Given the description of an element on the screen output the (x, y) to click on. 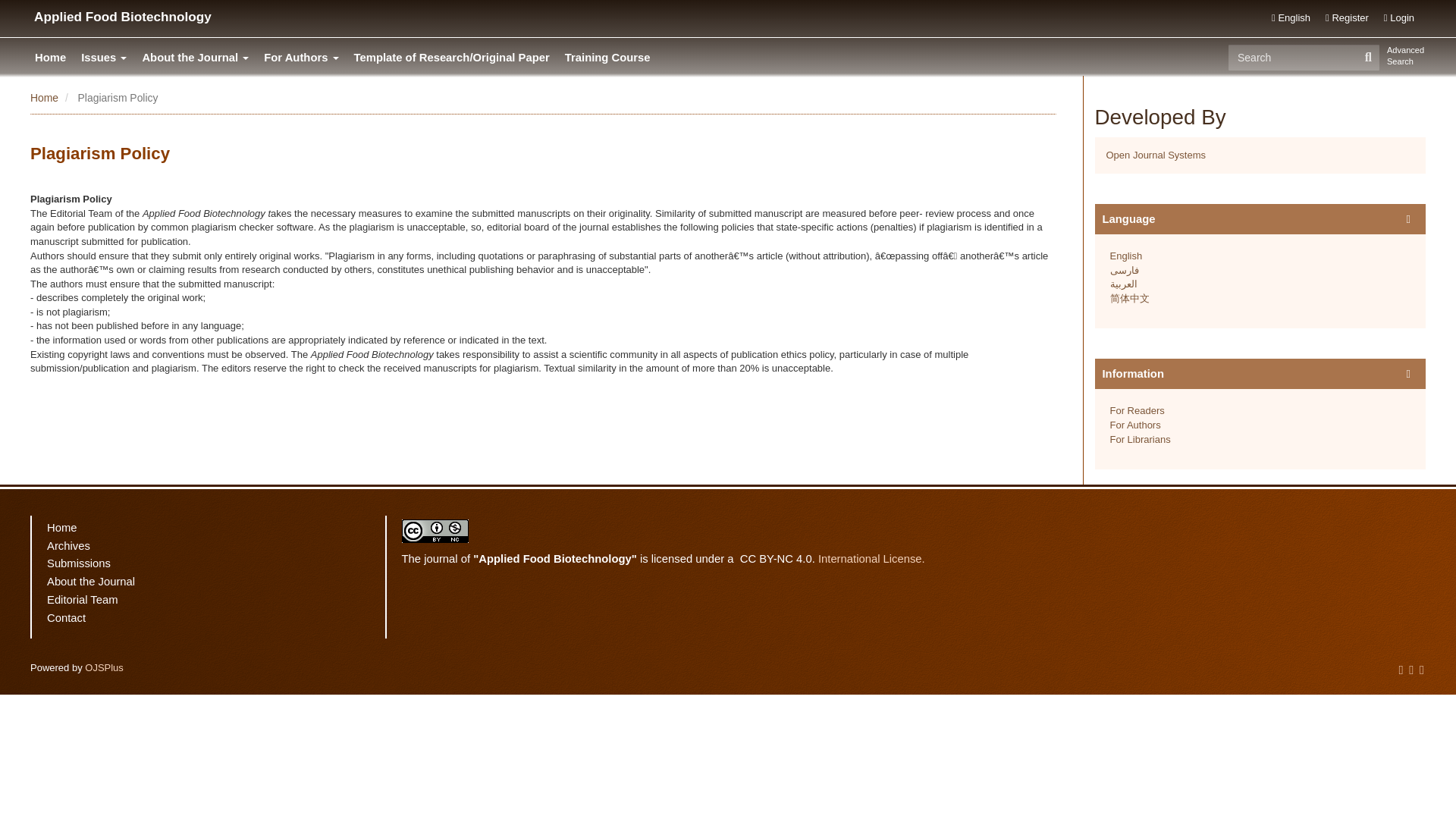
Home (44, 97)
English (1290, 17)
For Librarians (1139, 439)
Issues (107, 57)
Applied Food Biotechnology (122, 16)
Open Journal Systems (1155, 154)
About the Journal (199, 57)
Register (1346, 17)
Advanced Search (1406, 56)
For Authors (304, 57)
